Given the description of an element on the screen output the (x, y) to click on. 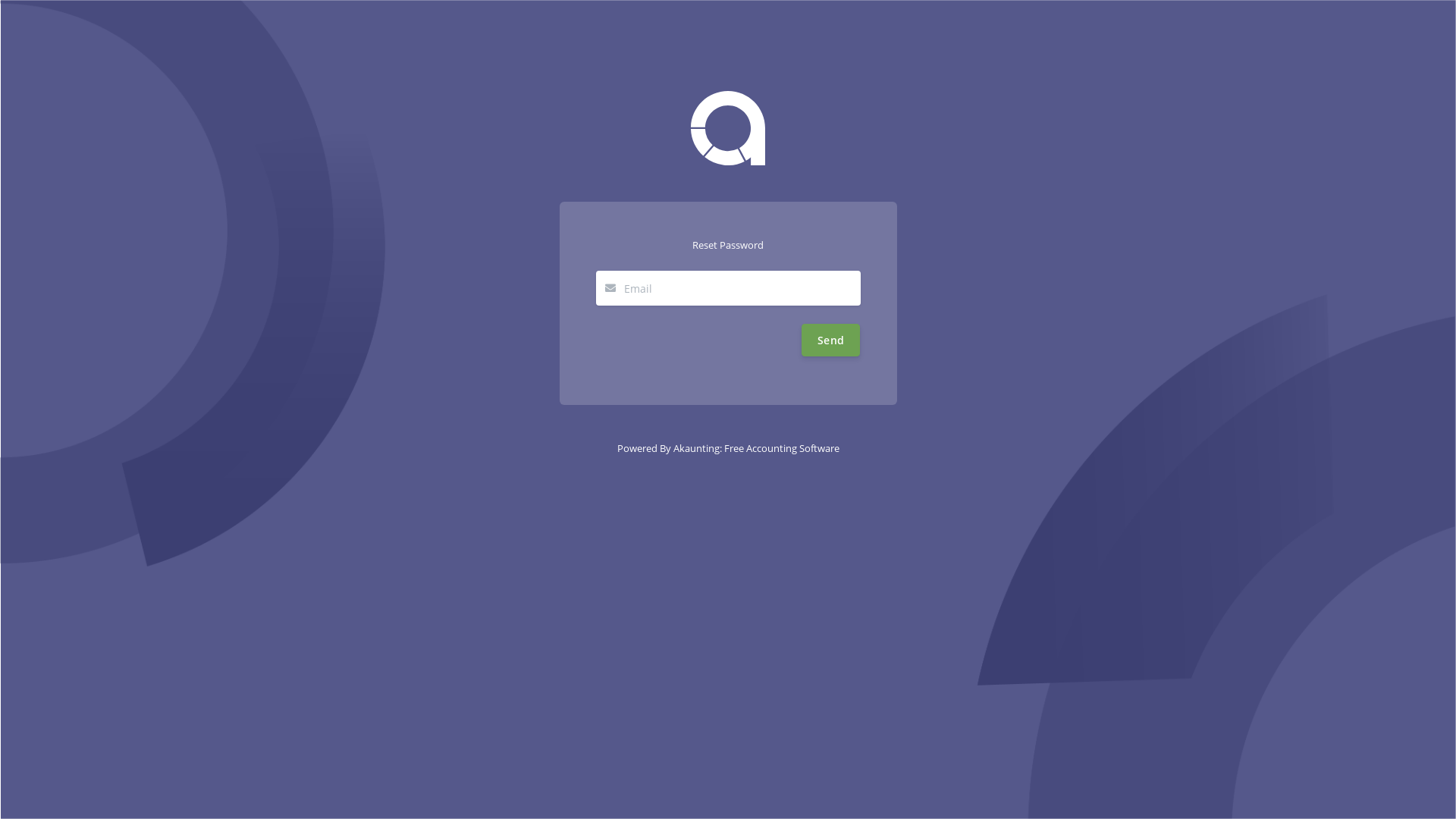
Free Accounting Software Element type: text (780, 448)
Send Element type: text (830, 339)
